Given the description of an element on the screen output the (x, y) to click on. 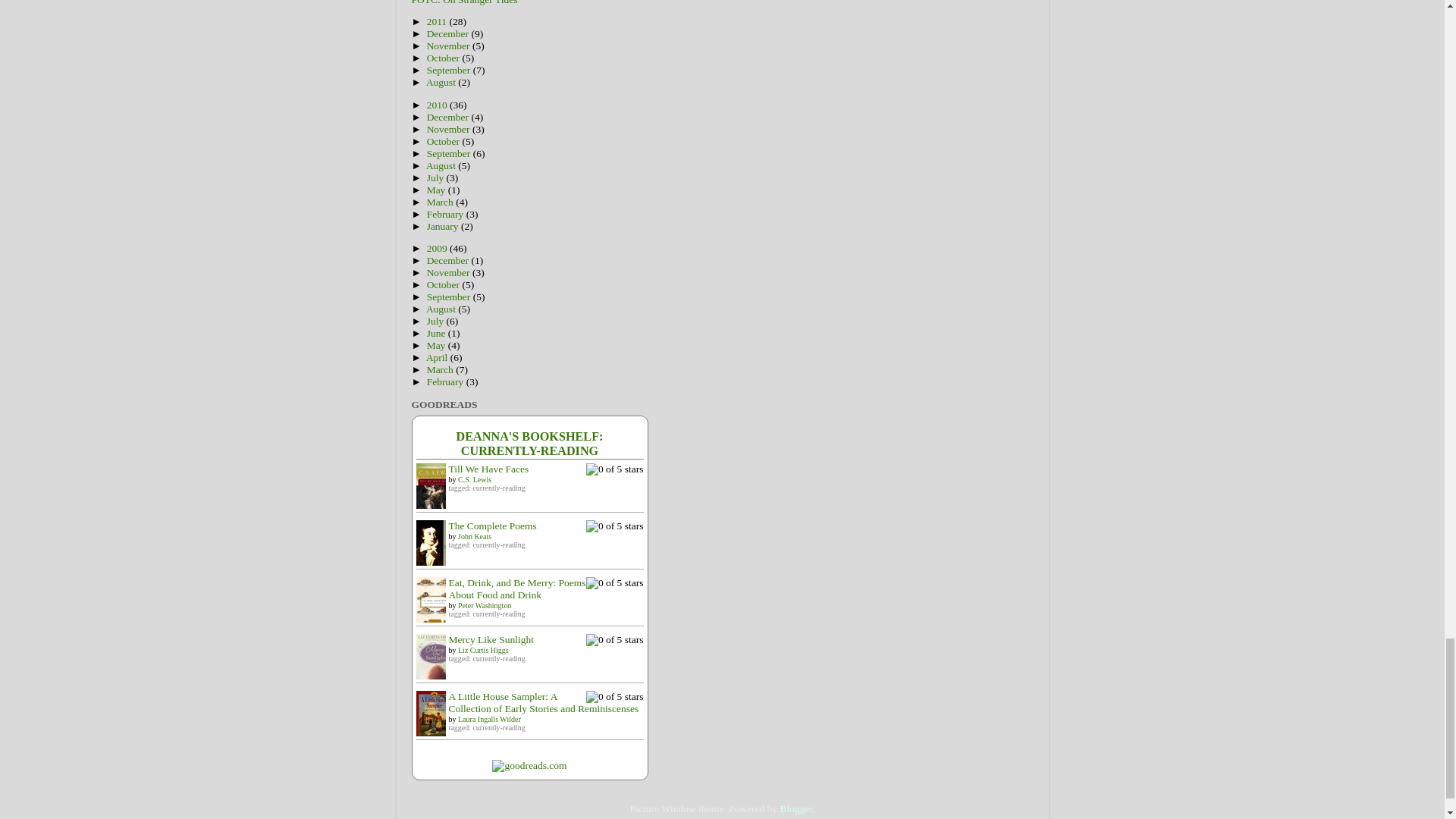
0 of 5 stars,  (614, 526)
0 of 5 stars,  (614, 469)
Mercy Like Sunlight (433, 686)
0 of 5 stars,  (614, 582)
0 of 5 stars,  (614, 639)
The Complete Poems (433, 572)
Eat, Drink, and Be Merry: Poems About Food and Drink (433, 627)
Till We Have Faces (433, 516)
